Given the description of an element on the screen output the (x, y) to click on. 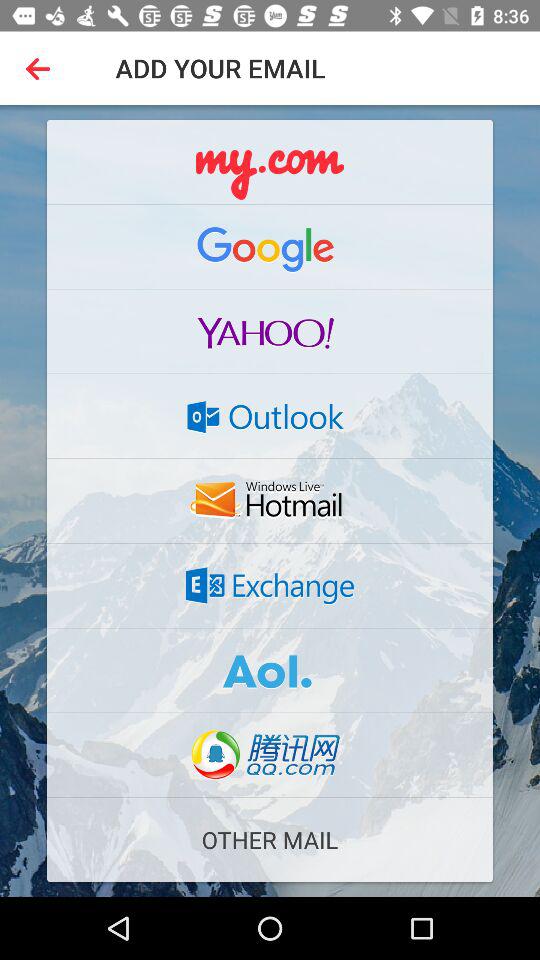
open exchange (269, 585)
